Given the description of an element on the screen output the (x, y) to click on. 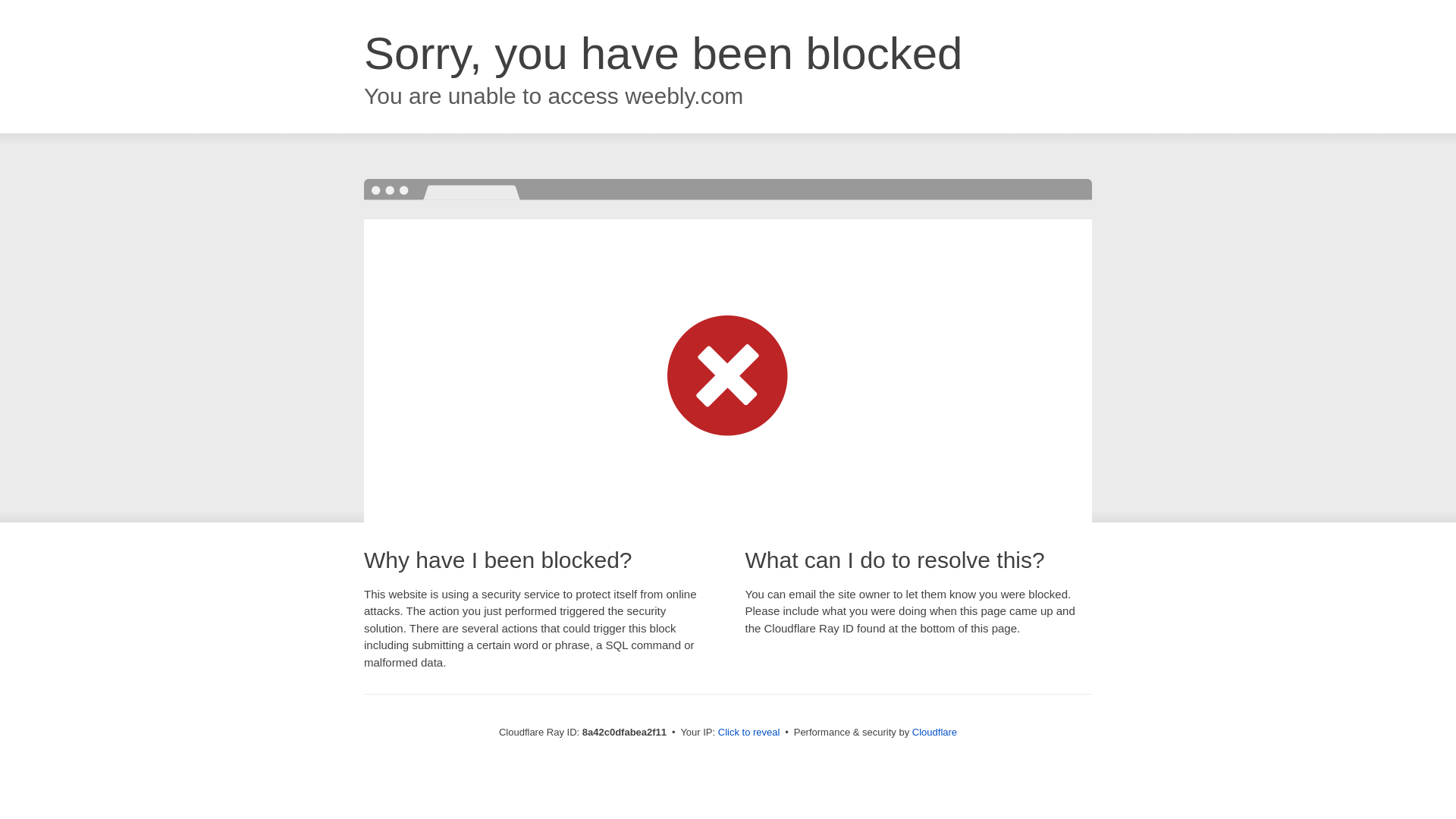
Click to reveal (748, 732)
Cloudflare (934, 731)
